Given the description of an element on the screen output the (x, y) to click on. 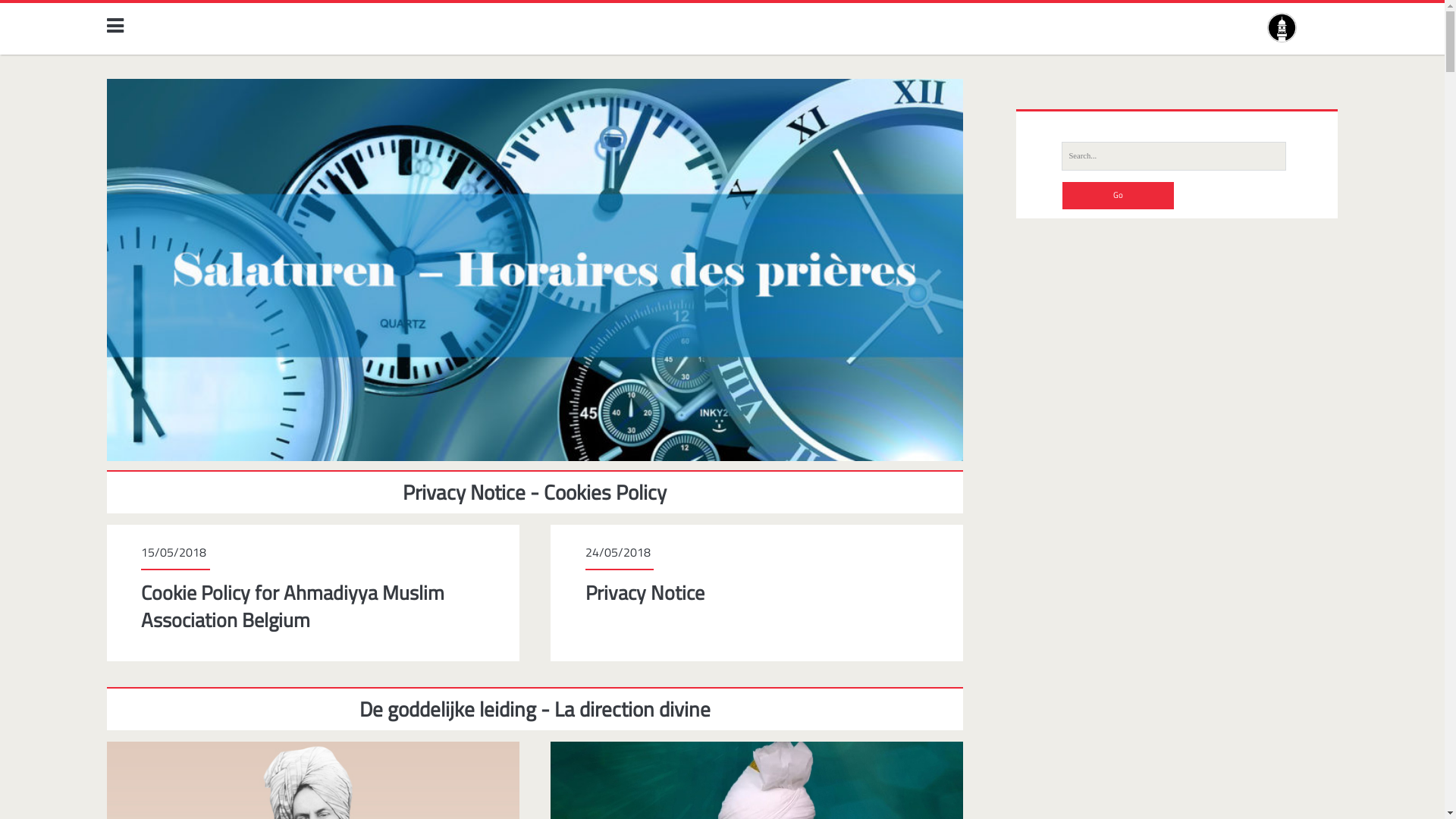
Privacy Notice Element type: text (644, 592)
Go Element type: text (1117, 195)
Cookie Policy for Ahmadiyya Muslim Association Belgium Element type: text (292, 605)
Search for: Element type: hover (1173, 155)
